Given the description of an element on the screen output the (x, y) to click on. 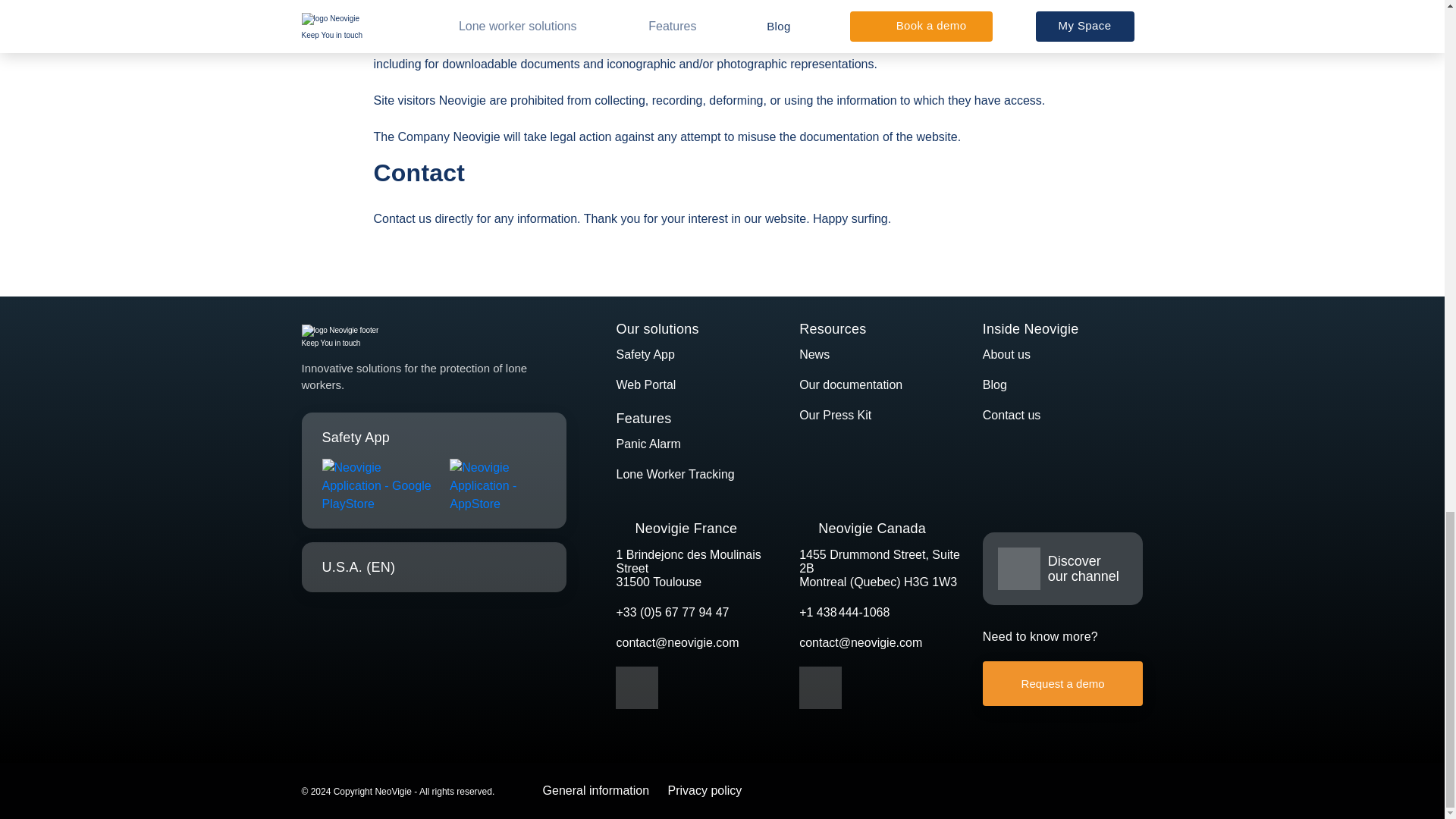
Keep You in touch (434, 336)
Web Portal (645, 384)
Safety App (644, 354)
Lone Worker Tracking (674, 473)
Our documentation (850, 384)
News (814, 354)
Panic Alarm (647, 443)
